Given the description of an element on the screen output the (x, y) to click on. 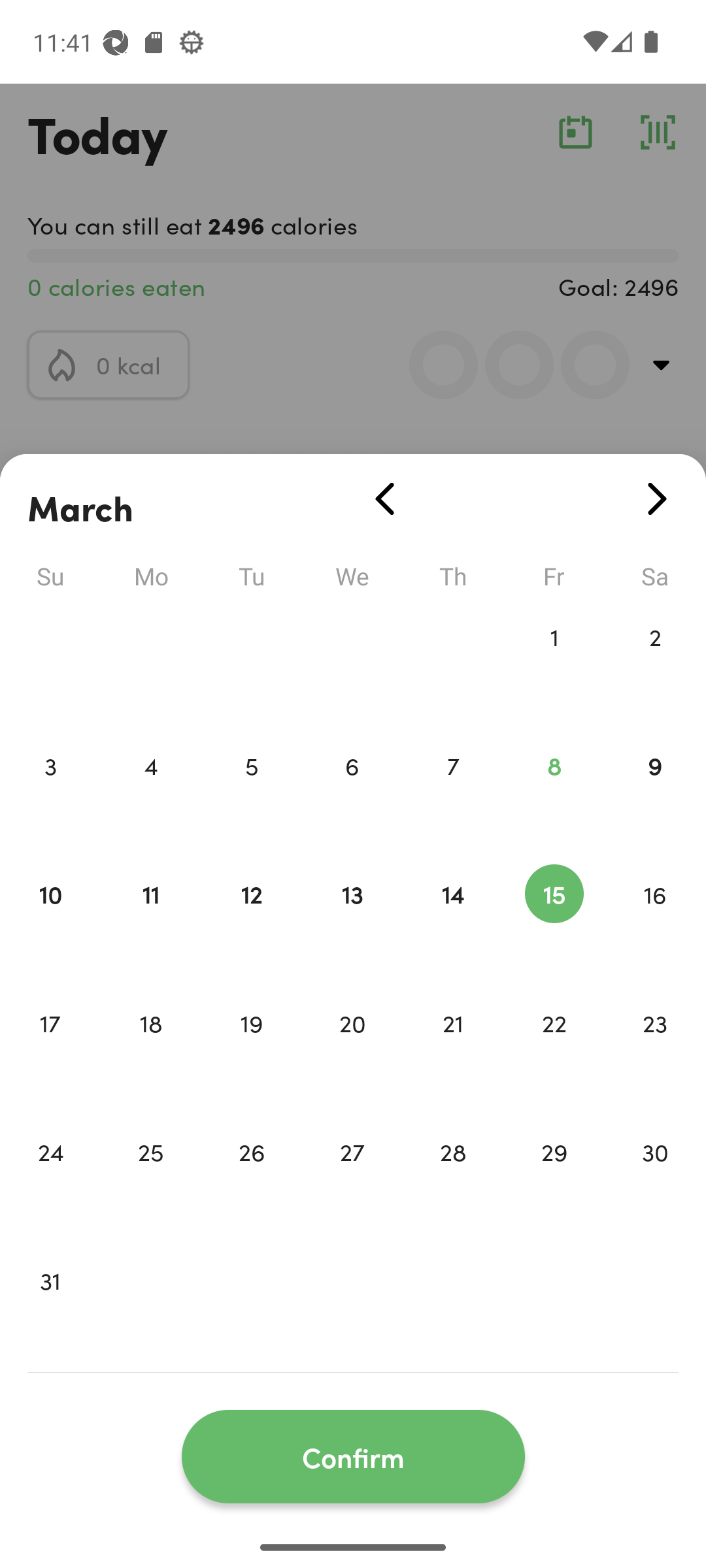
1 (554, 663)
2 (655, 663)
3 (50, 793)
4 (150, 793)
5 (251, 793)
6 (352, 793)
7 (453, 793)
8 (554, 793)
9 (655, 793)
10 (50, 921)
11 (150, 921)
12 (251, 921)
13 (352, 921)
14 (453, 921)
15 (554, 921)
16 (655, 921)
17 (50, 1050)
18 (150, 1050)
19 (251, 1050)
20 (352, 1050)
21 (453, 1050)
22 (554, 1050)
23 (655, 1050)
24 (50, 1178)
25 (150, 1178)
26 (251, 1178)
27 (352, 1178)
28 (453, 1178)
29 (554, 1178)
30 (655, 1178)
31 (50, 1307)
Confirm (353, 1456)
